Given the description of an element on the screen output the (x, y) to click on. 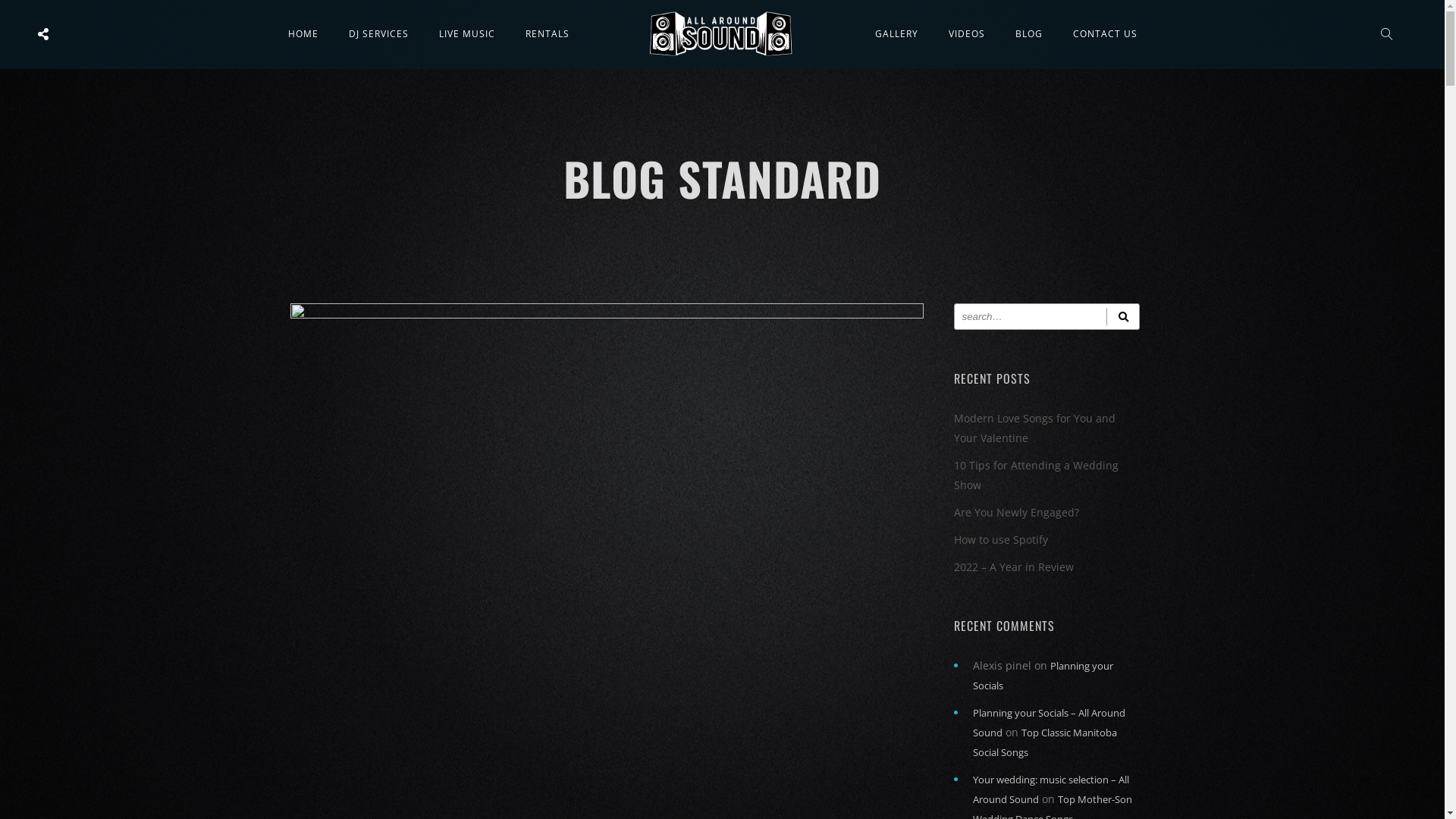
DJ SERVICES Element type: text (378, 33)
Planning your Socials Element type: text (1042, 675)
GALLERY Element type: text (896, 33)
10 Tips for Attending a Wedding Show Element type: text (1035, 475)
BLOG Element type: text (1028, 33)
VIDEOS Element type: text (966, 33)
LIVE MUSIC Element type: text (466, 33)
How to use Spotify Element type: text (1000, 539)
Top Classic Manitoba Social Songs Element type: text (1044, 742)
Are You Newly Engaged? Element type: text (1016, 512)
Search Element type: hover (1122, 316)
RENTALS Element type: text (547, 33)
HOME Element type: text (303, 33)
Modern Love Songs for You and Your Valentine Element type: text (1034, 428)
CONTACT US Element type: text (1105, 33)
